Given the description of an element on the screen output the (x, y) to click on. 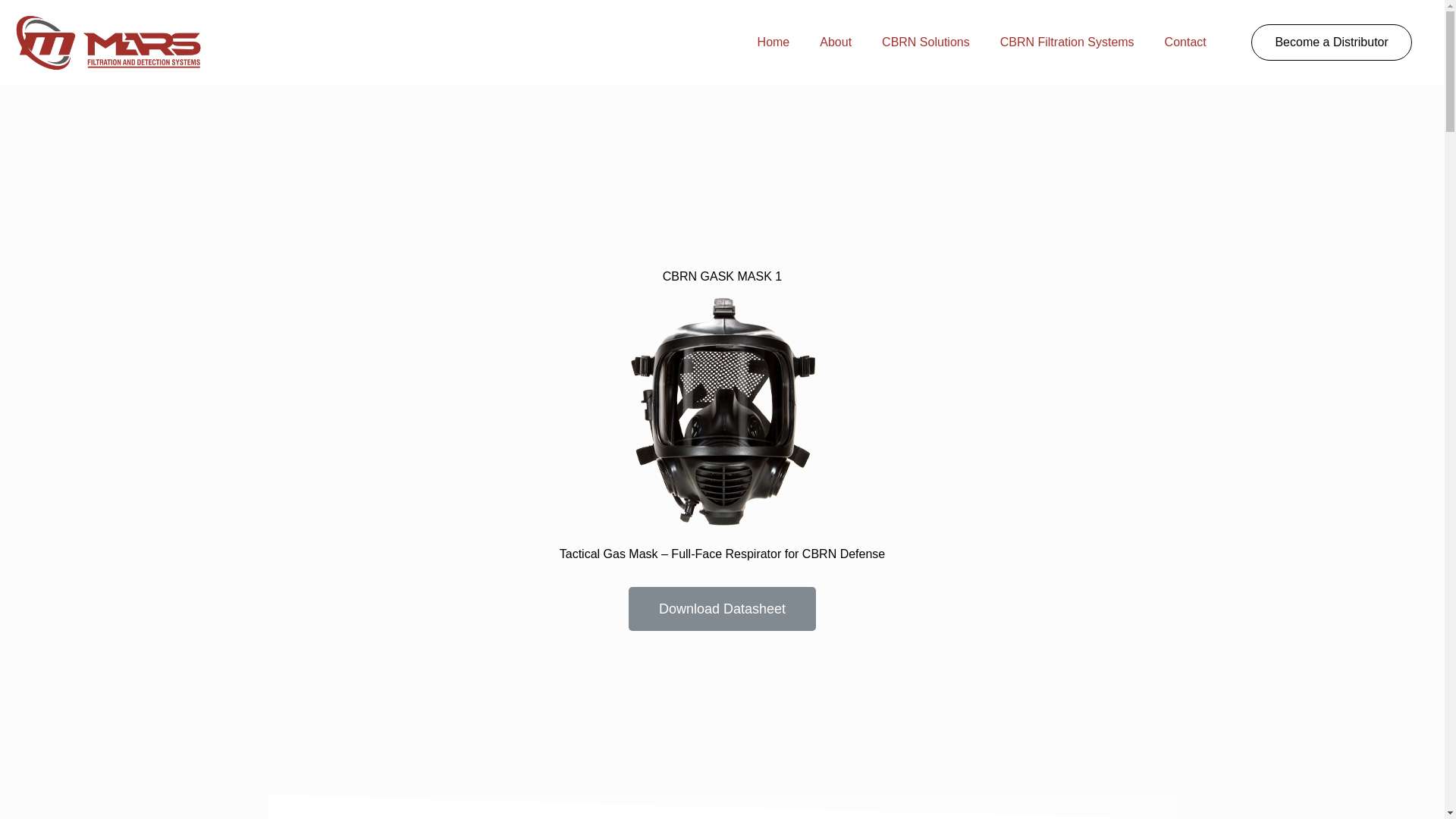
Home (773, 42)
CBRN Solutions (925, 42)
About (835, 42)
CBRN Filtration Systems (1067, 42)
